Given the description of an element on the screen output the (x, y) to click on. 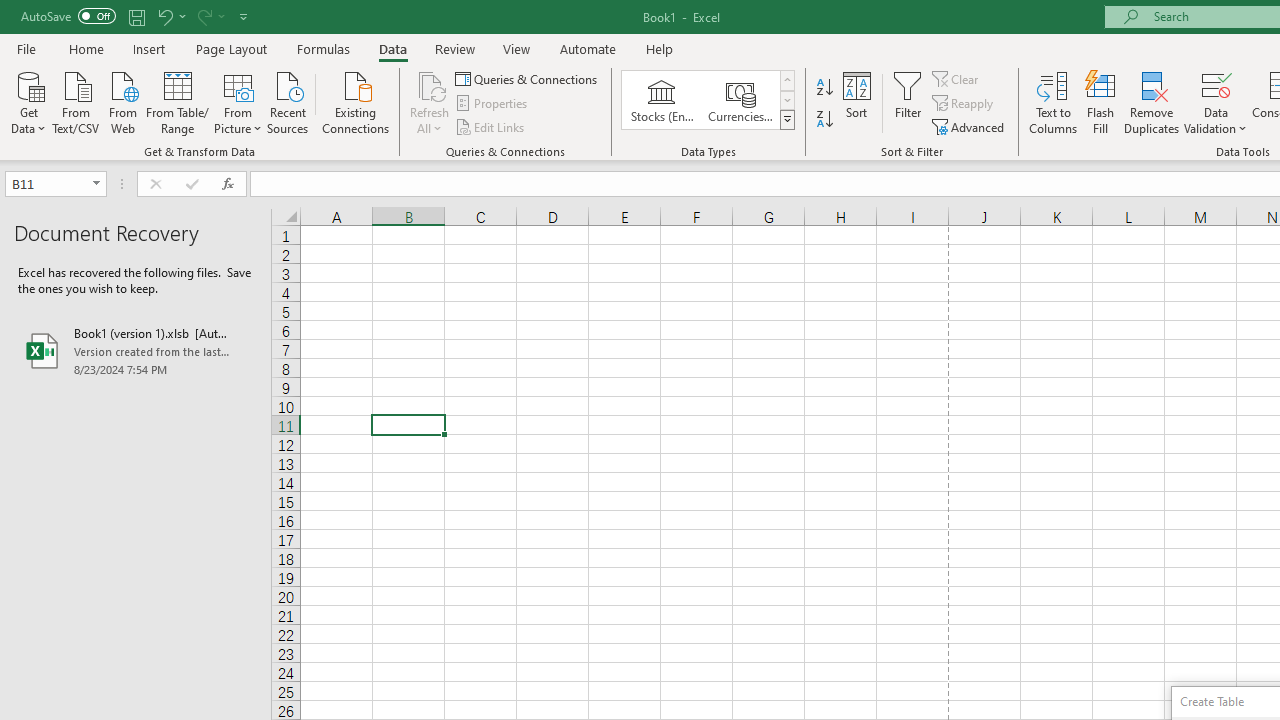
Sort... (856, 102)
Book1 (version 1).xlsb  [AutoRecovered] (136, 350)
Remove Duplicates (1151, 102)
Reapply (964, 103)
Edit Links (491, 126)
From Web (122, 101)
Recent Sources (287, 101)
Refresh All (429, 102)
